Given the description of an element on the screen output the (x, y) to click on. 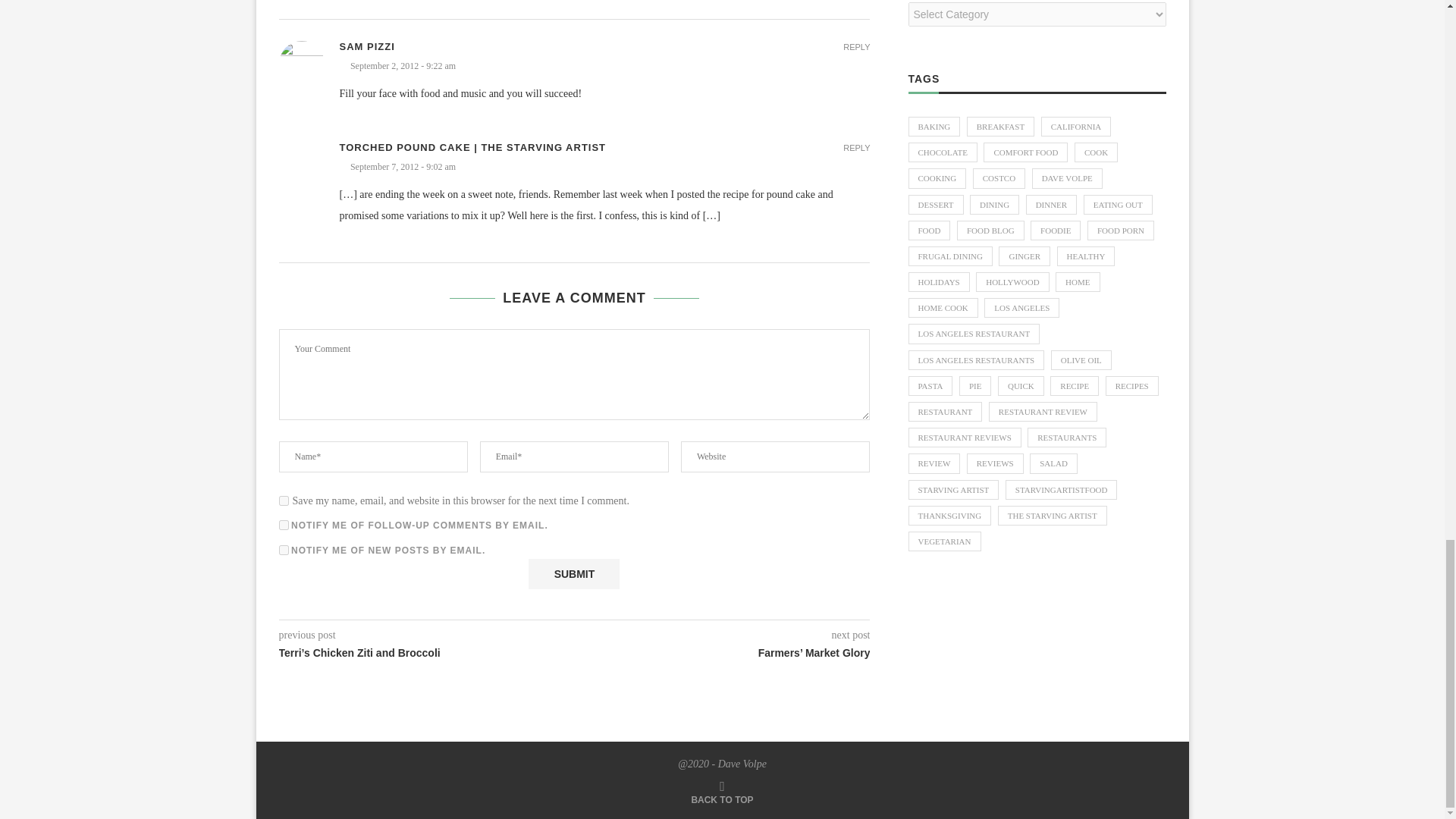
Sunday, September 2, 2012, 9:22 am (604, 66)
subscribe (283, 524)
Submit (574, 573)
Friday, September 7, 2012, 9:02 am (604, 166)
yes (283, 501)
subscribe (283, 550)
